Given the description of an element on the screen output the (x, y) to click on. 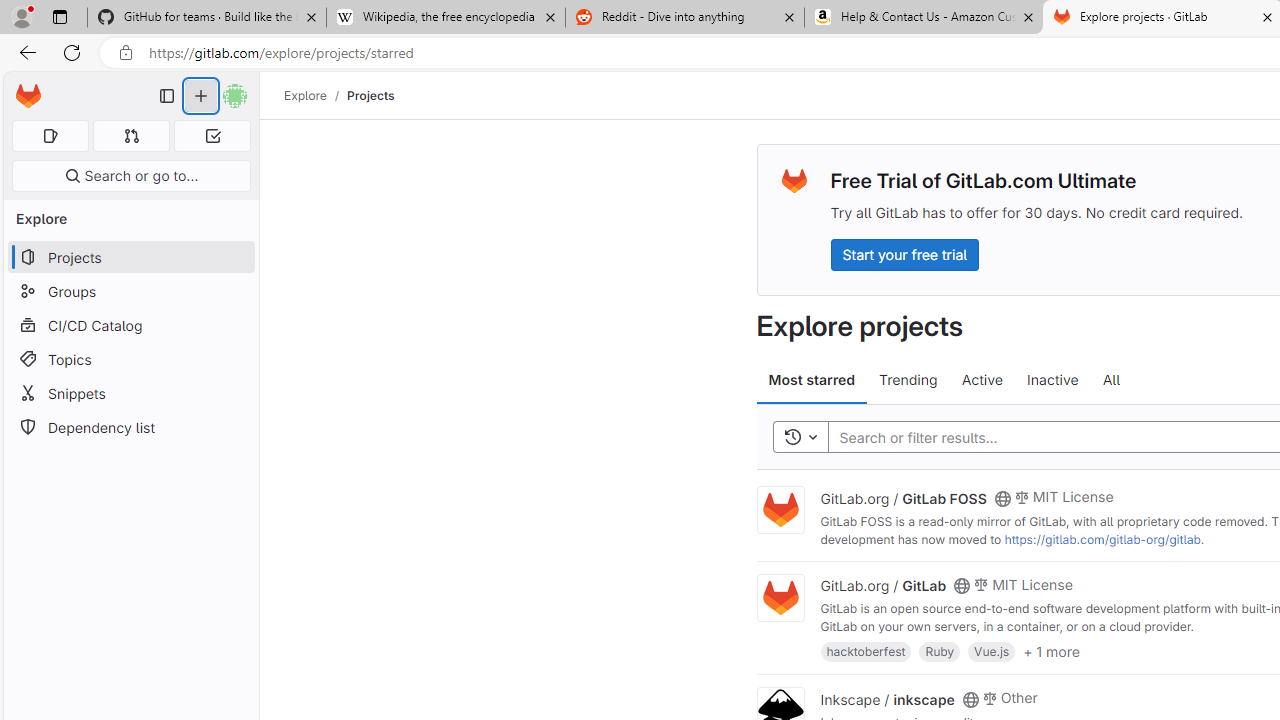
Create new... (201, 96)
Snippets (130, 393)
Vue.js (991, 650)
Topics (130, 358)
Groups (130, 291)
Inactive (1052, 379)
Explore (305, 95)
Most starred (811, 379)
+ 1 more (1051, 650)
Projects (370, 95)
Class: s14 gl-mr-2 (989, 696)
Trending (907, 379)
Topics (130, 358)
